Given the description of an element on the screen output the (x, y) to click on. 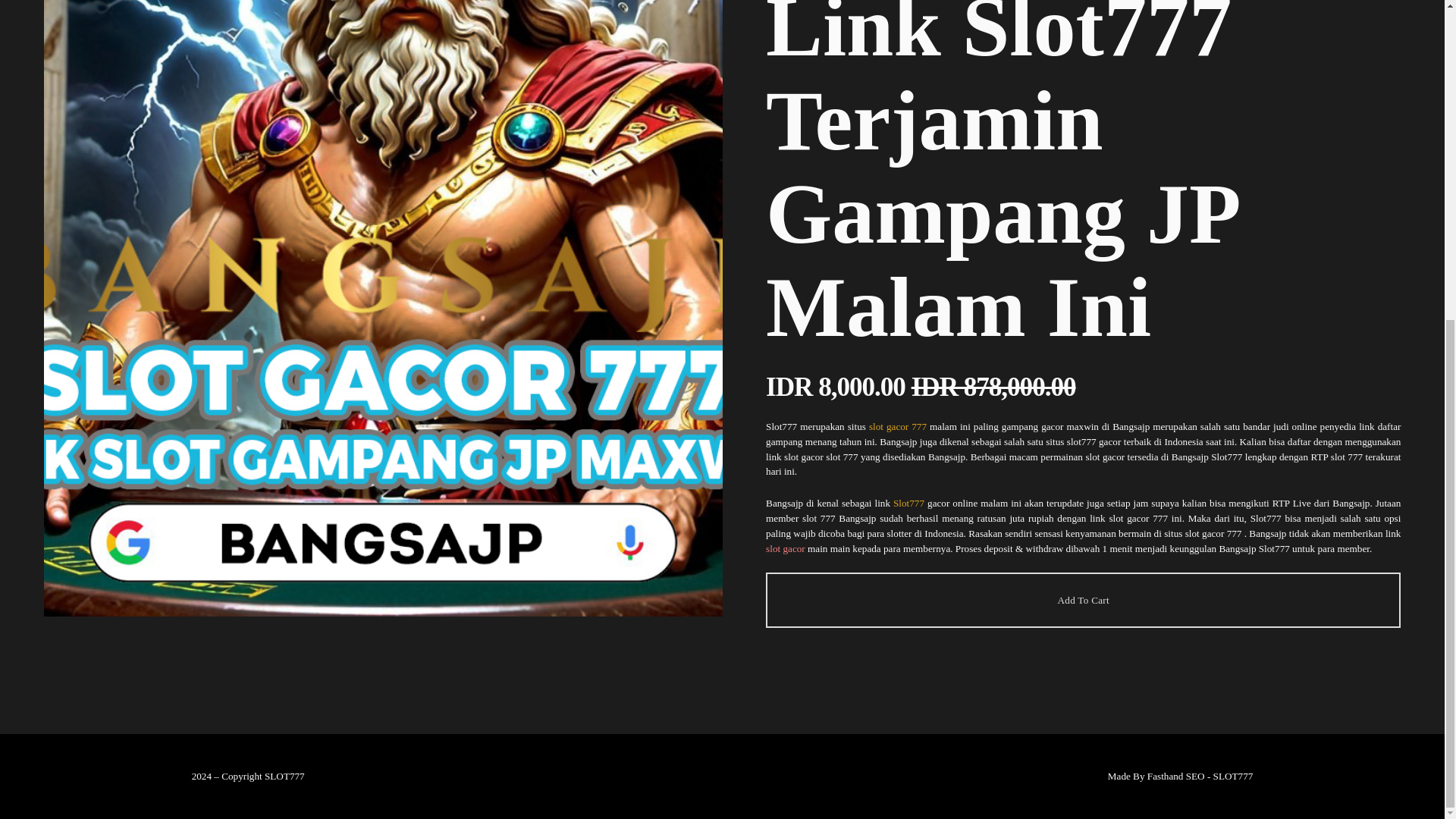
slot gacor 777 (897, 426)
Slot777 (908, 502)
slot gacor (785, 548)
